Given the description of an element on the screen output the (x, y) to click on. 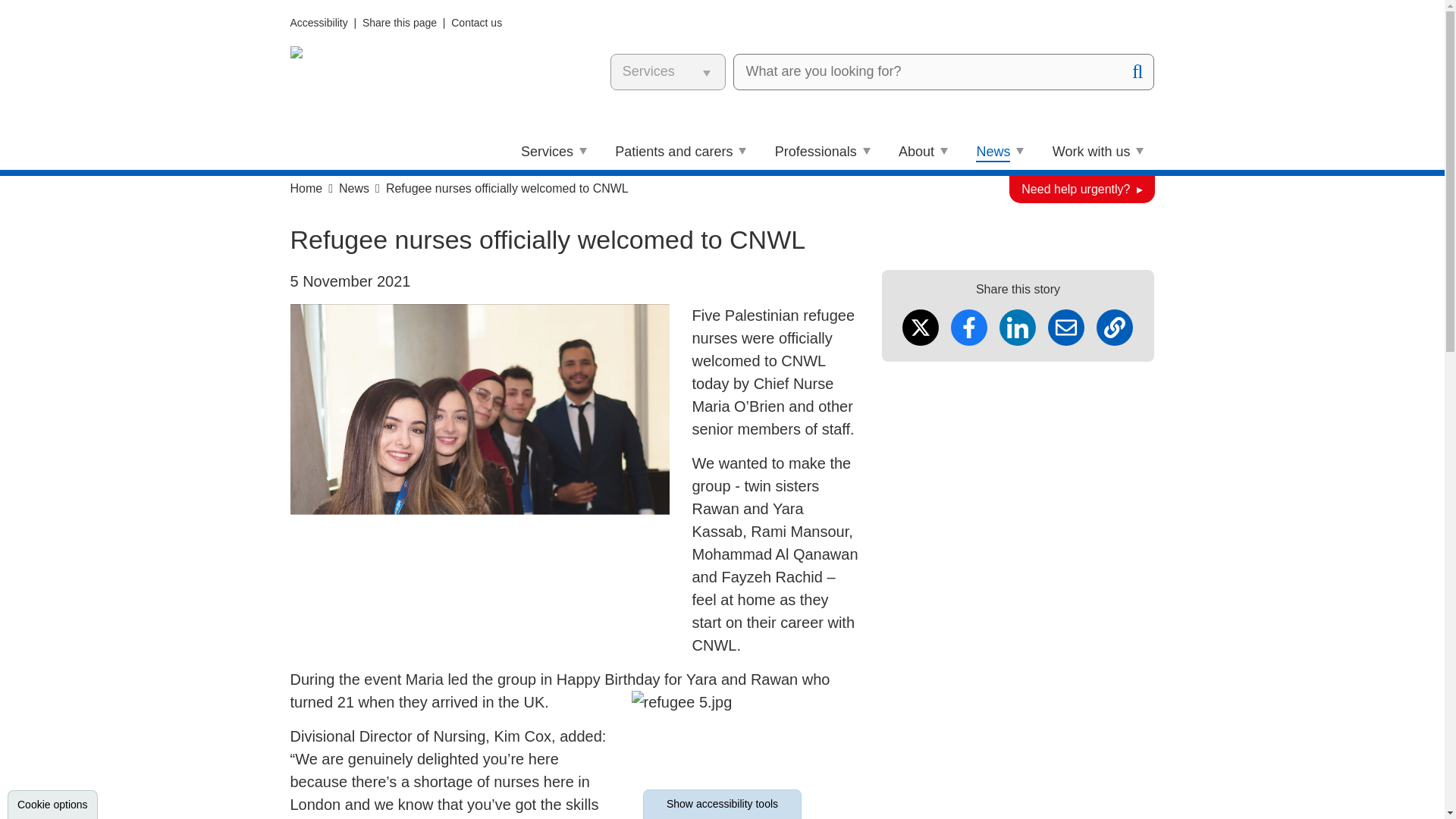
Community services (602, 31)
Share this page (399, 22)
Sexual health services (609, 61)
CAMHS (868, 84)
Cookie options (52, 804)
Patients and carers (681, 151)
Recovery and Wellbeing College (951, 8)
Our Locations (581, 122)
Services (554, 151)
Mental health services (609, 8)
Contact us (476, 22)
Health and Justice (596, 91)
Accessibility (318, 22)
